Given the description of an element on the screen output the (x, y) to click on. 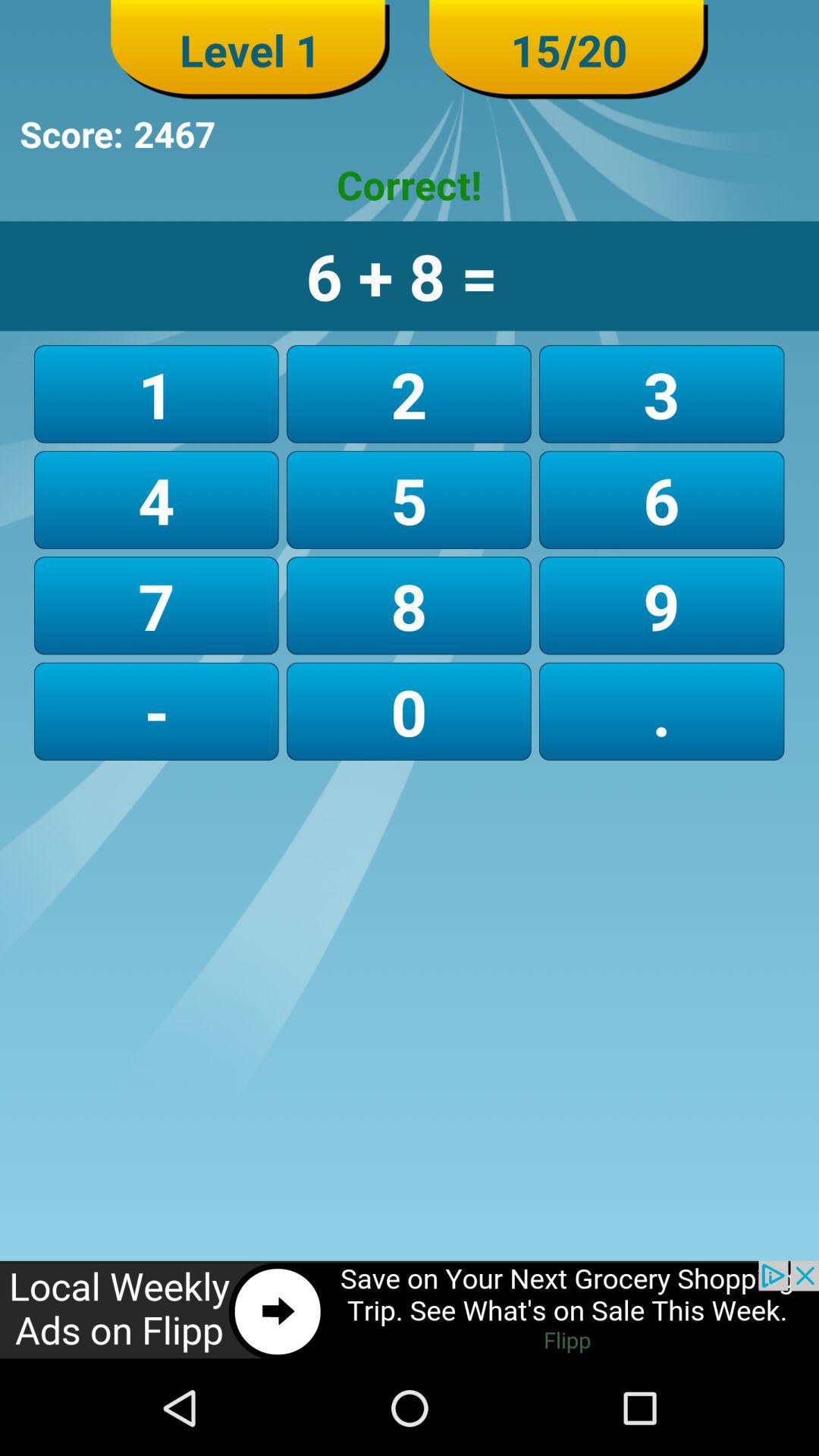
turn off the item above - icon (156, 605)
